Given the description of an element on the screen output the (x, y) to click on. 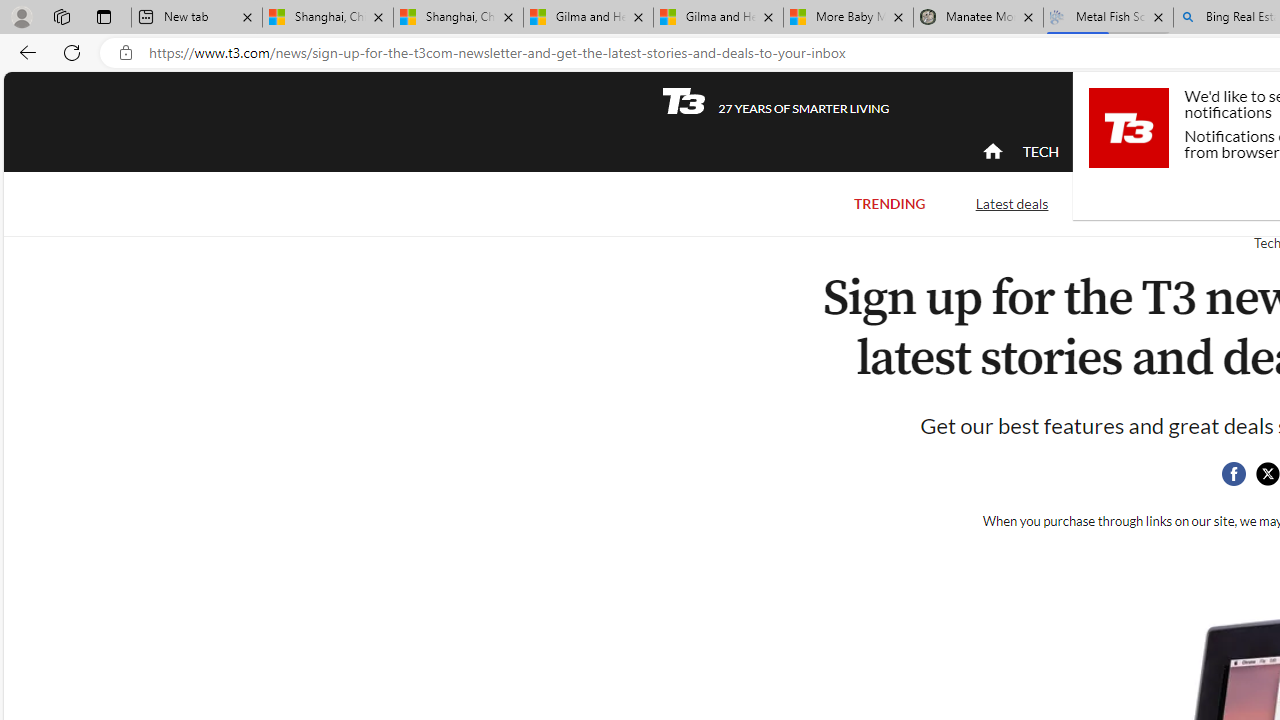
home (992, 152)
T3 (683, 100)
Share this page on Twitter (1267, 474)
